Given the description of an element on the screen output the (x, y) to click on. 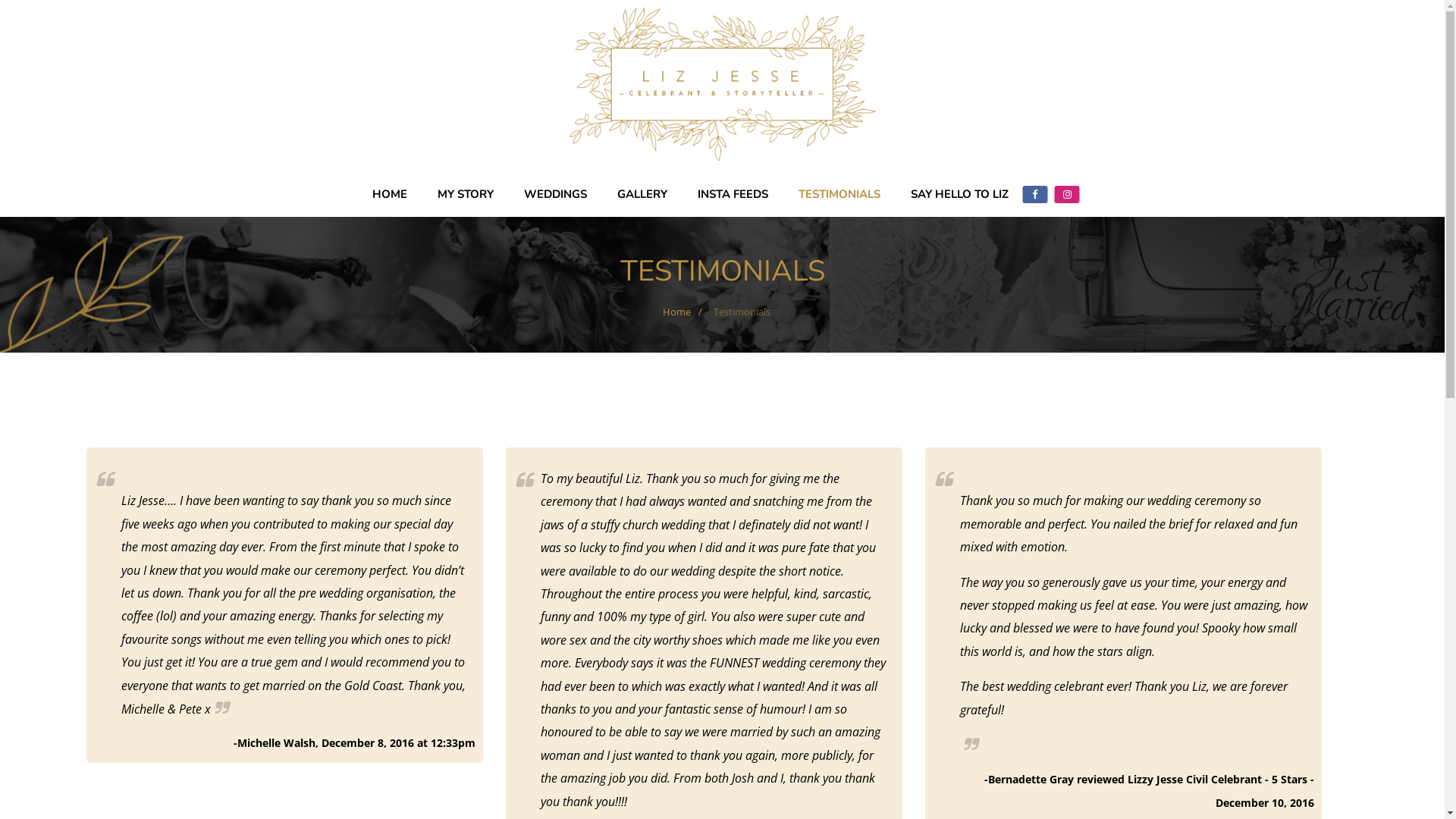
TESTIMONIALS Element type: text (839, 194)
HOME Element type: text (389, 194)
GALLERY Element type: text (642, 194)
-Michelle Walsh, December 8, 2016 at 12:33pm Element type: text (354, 742)
SAY HELLO TO LIZ Element type: text (959, 194)
WEDDINGS Element type: text (555, 194)
INSTA FEEDS Element type: text (732, 194)
MY STORY Element type: text (465, 194)
Home Element type: text (676, 311)
